Given the description of an element on the screen output the (x, y) to click on. 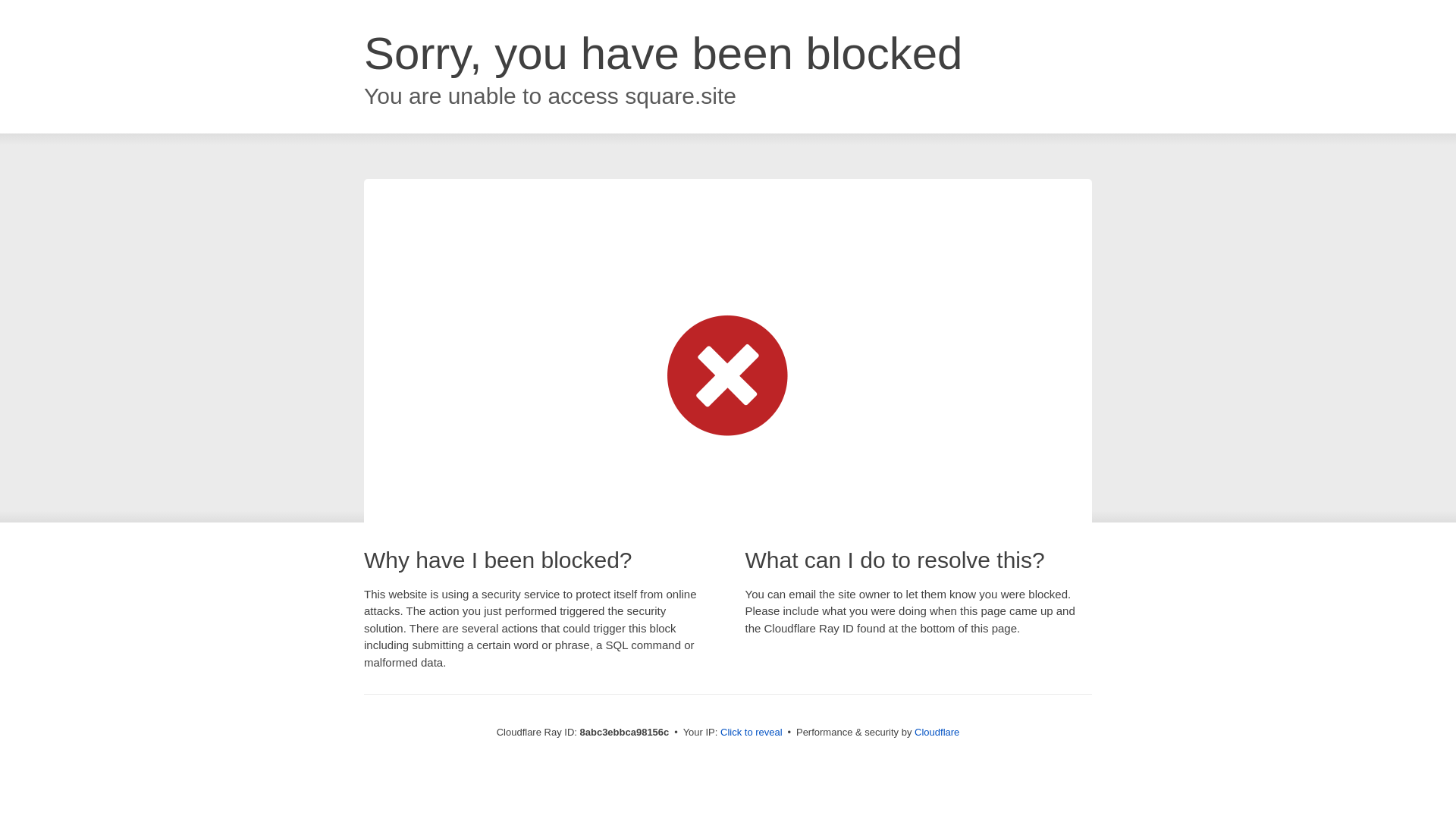
Cloudflare (936, 731)
Click to reveal (751, 732)
